Given the description of an element on the screen output the (x, y) to click on. 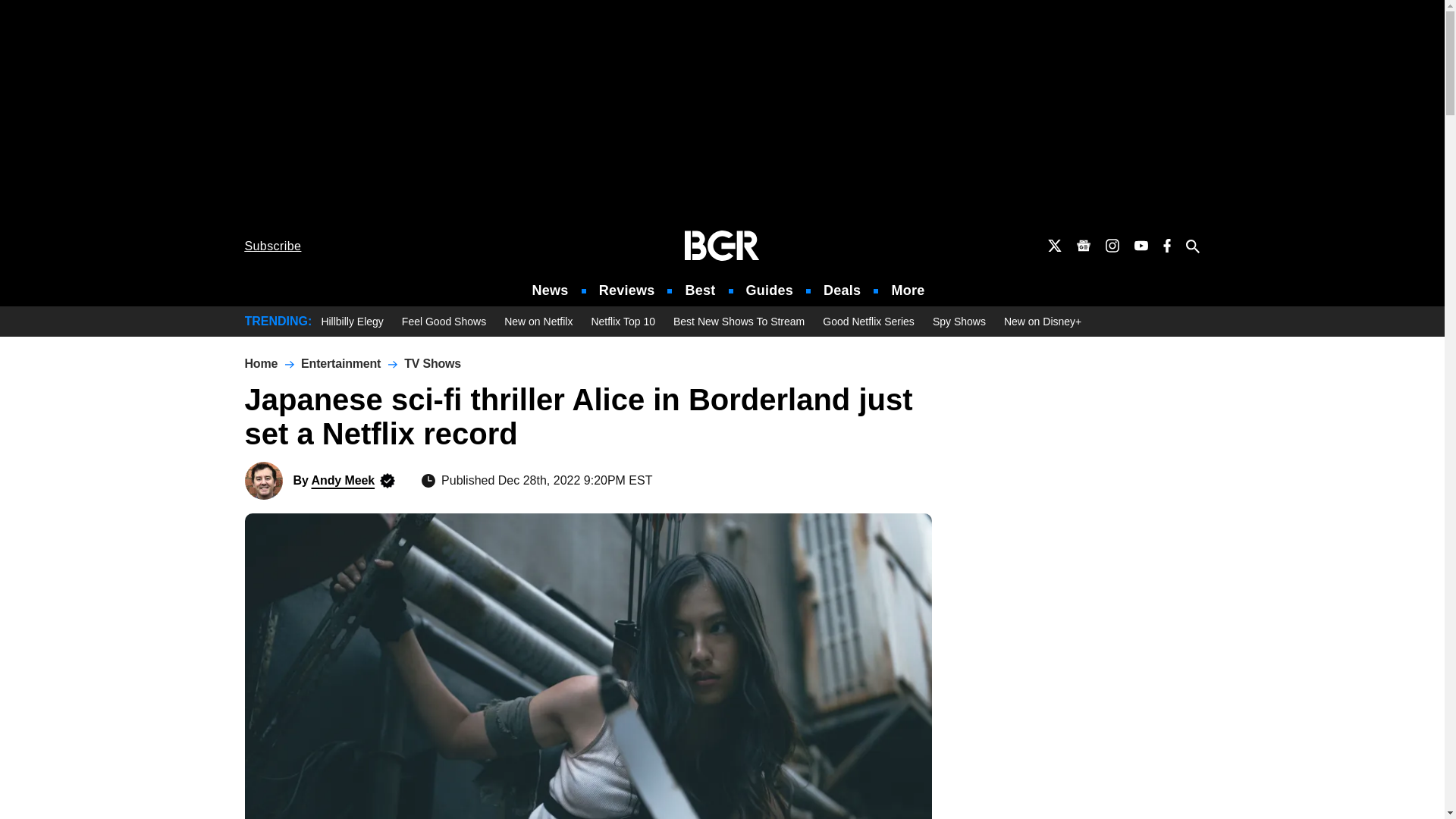
Best (699, 290)
Subscribe (272, 245)
Deals (842, 290)
News (550, 290)
Posts by Andy Meek (343, 480)
Guides (769, 290)
More (907, 290)
Reviews (626, 290)
